Given the description of an element on the screen output the (x, y) to click on. 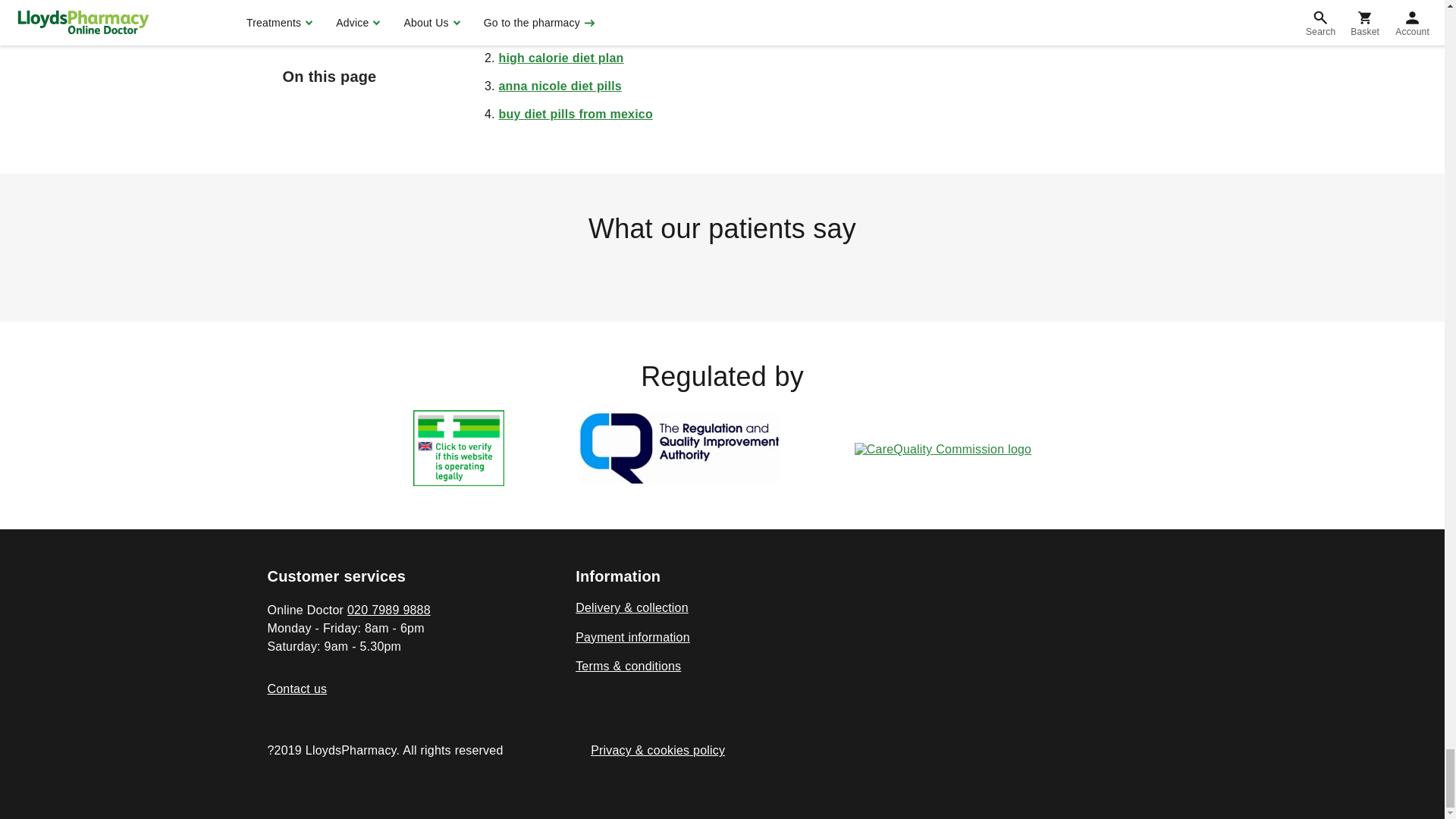
CareQuality Commission logo (942, 449)
Customer reviews powered by Trustpilot (721, 272)
